Given the description of an element on the screen output the (x, y) to click on. 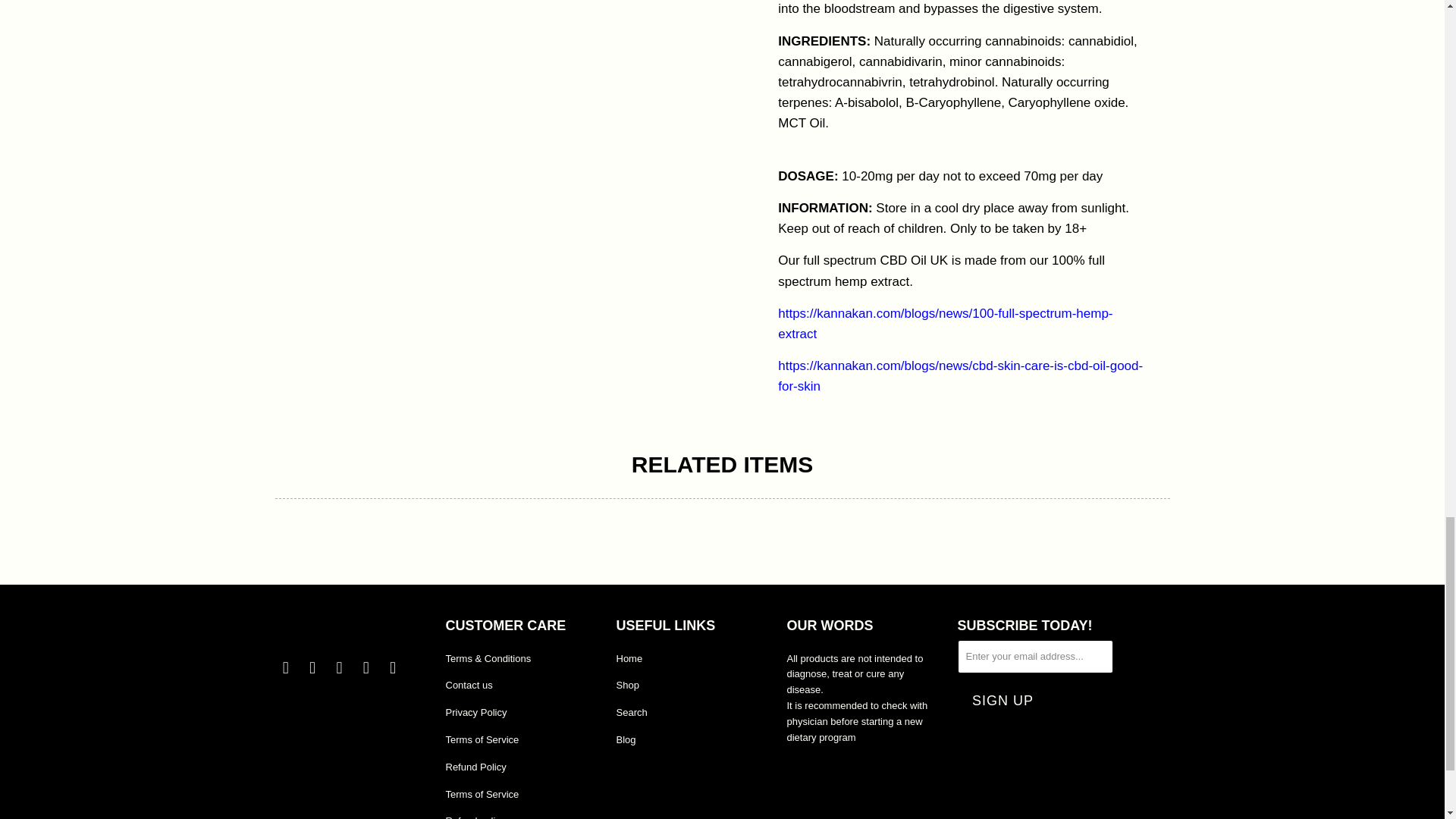
kannakan on Twitter (286, 668)
kannakan on Facebook (312, 668)
Is CBD oil good for the skin  (959, 375)
Email kannakan (392, 668)
Sign Up (1002, 701)
kannakan on Instagram (366, 668)
kannakan on YouTube (339, 668)
